Given the description of an element on the screen output the (x, y) to click on. 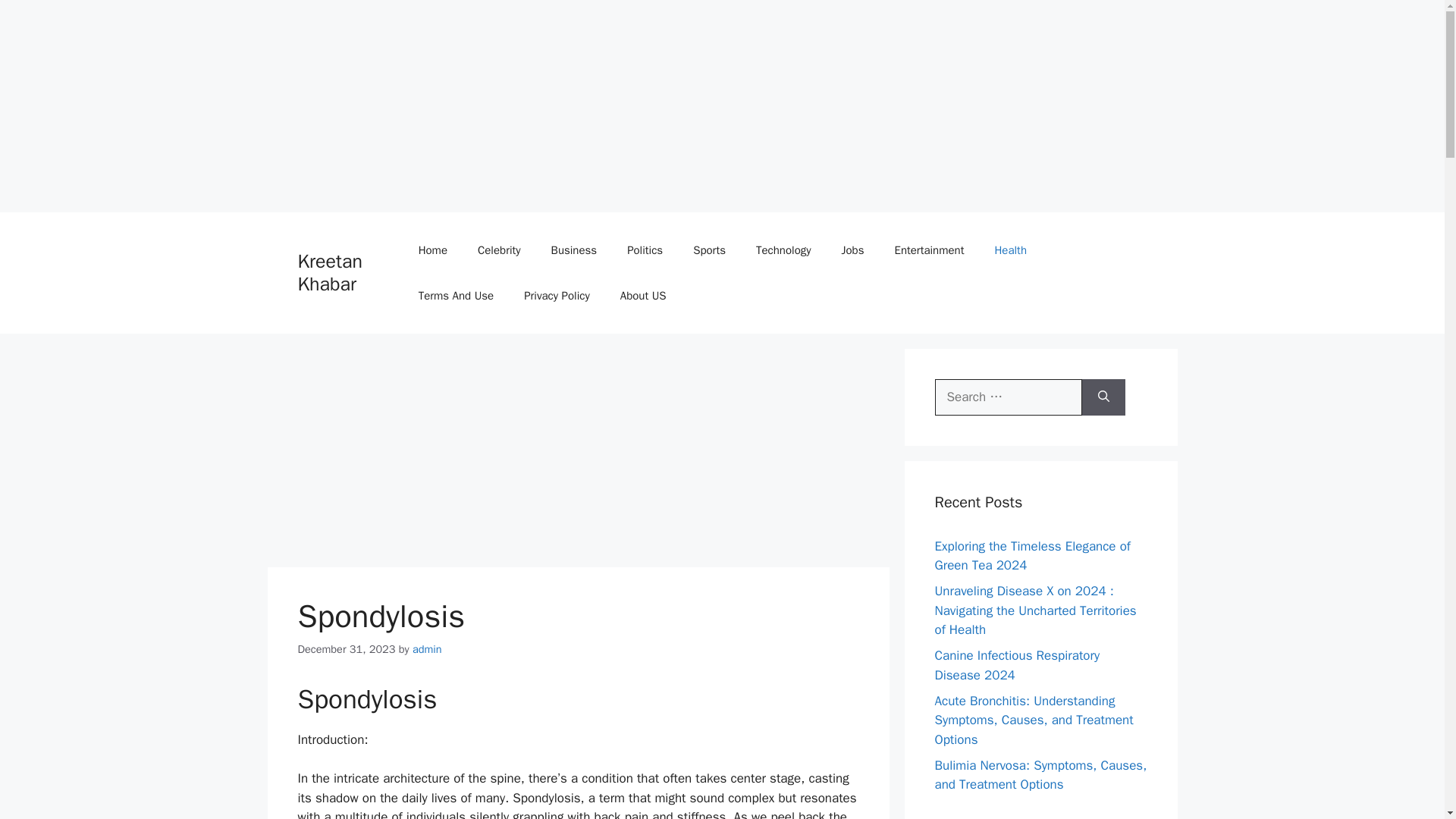
Health (1010, 249)
admin (427, 649)
Bulimia Nervosa: Symptoms, Causes, and Treatment Options (1040, 774)
Jobs (853, 249)
Celebrity (499, 249)
Privacy Policy (556, 295)
Entertainment (928, 249)
Business (573, 249)
Kreetan Khabar (329, 272)
View all posts by admin (427, 649)
Advertisement (577, 454)
Search for: (1007, 397)
